Given the description of an element on the screen output the (x, y) to click on. 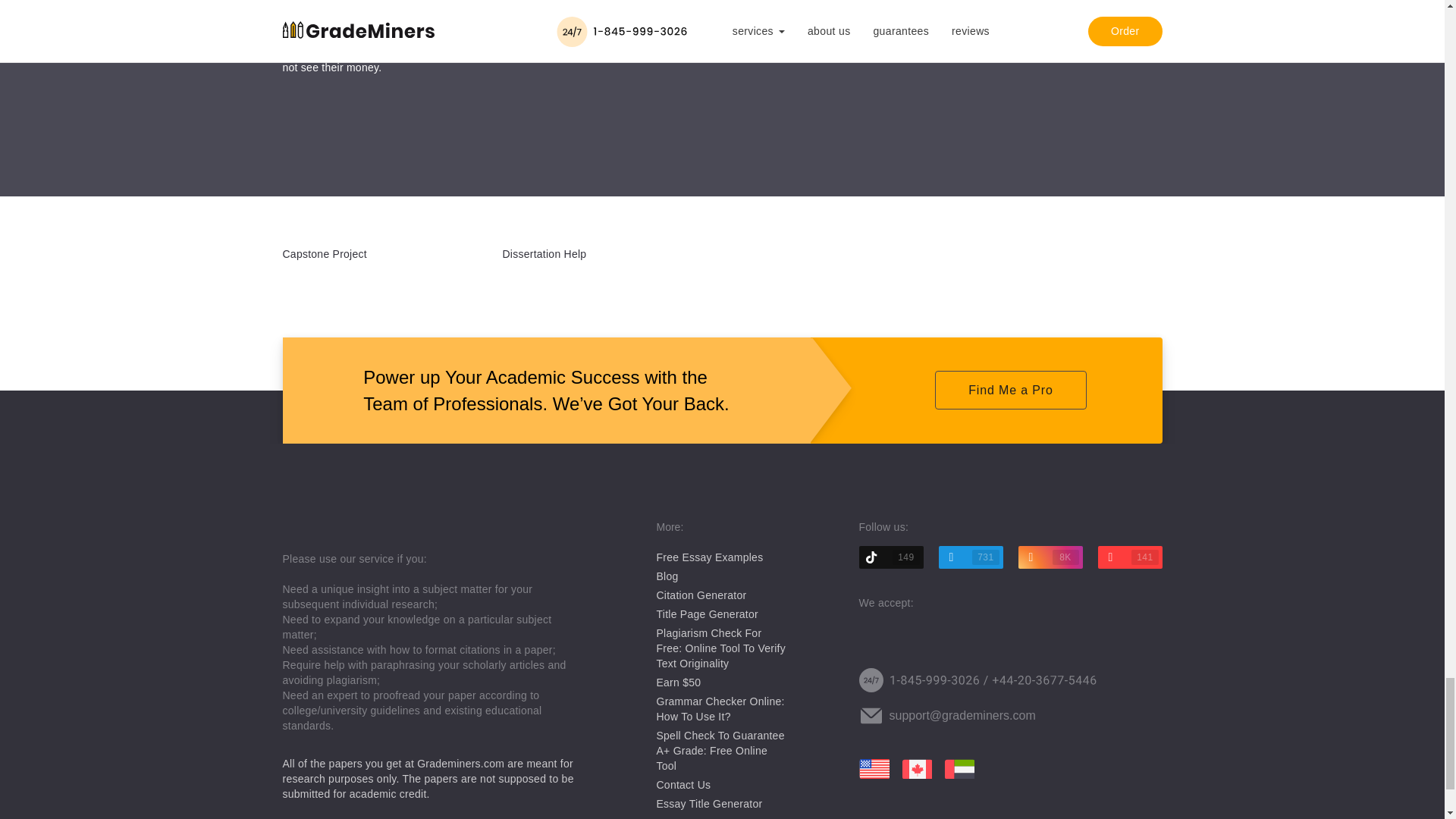
Essay Writing in Canada (916, 768)
Find Me a Pro (1010, 390)
Capstone Project (324, 254)
Dissertation Help (544, 254)
